Given the description of an element on the screen output the (x, y) to click on. 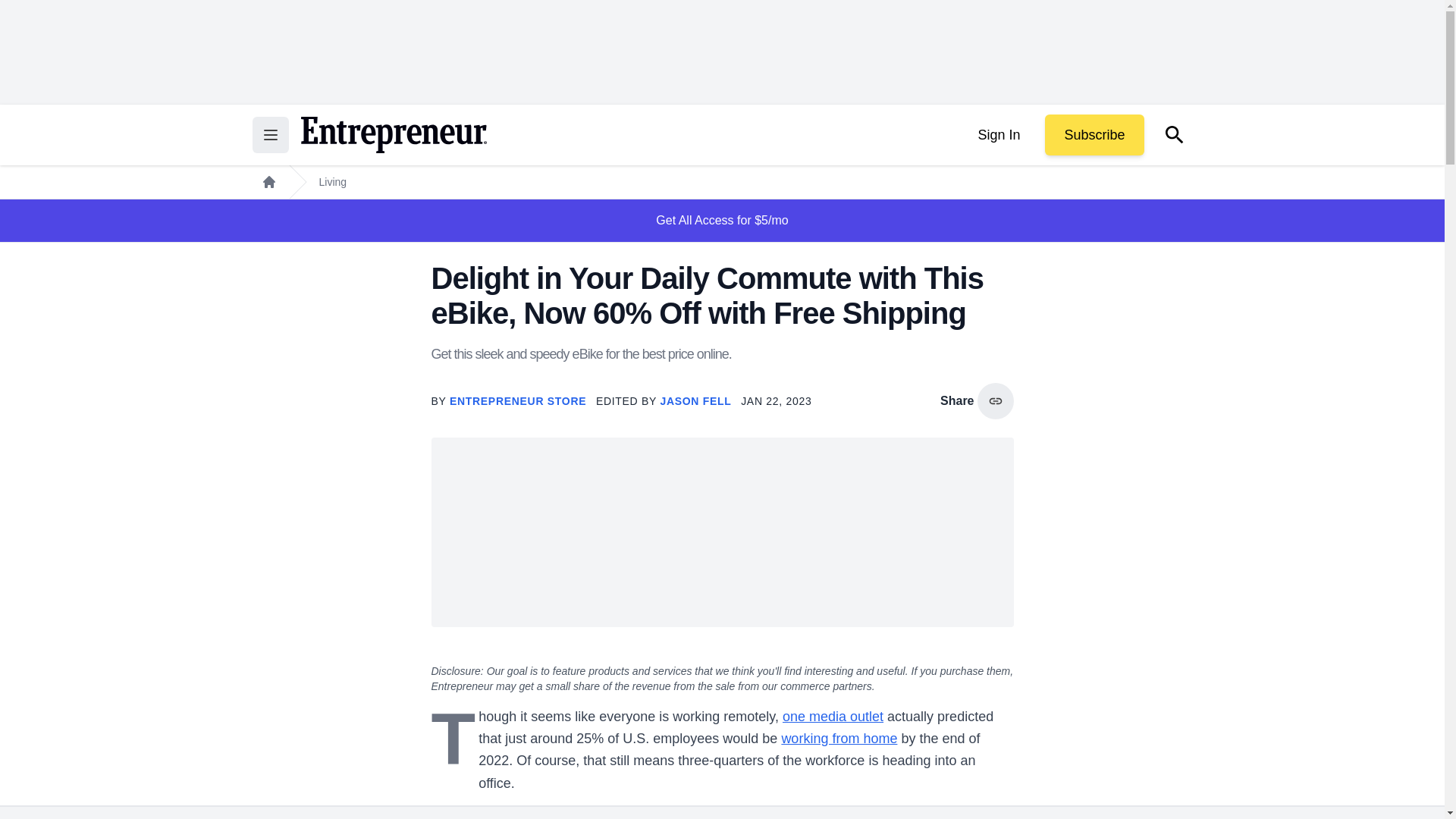
Sign In (998, 134)
Subscribe (1093, 134)
copy (994, 401)
Return to the home page (392, 135)
